Given the description of an element on the screen output the (x, y) to click on. 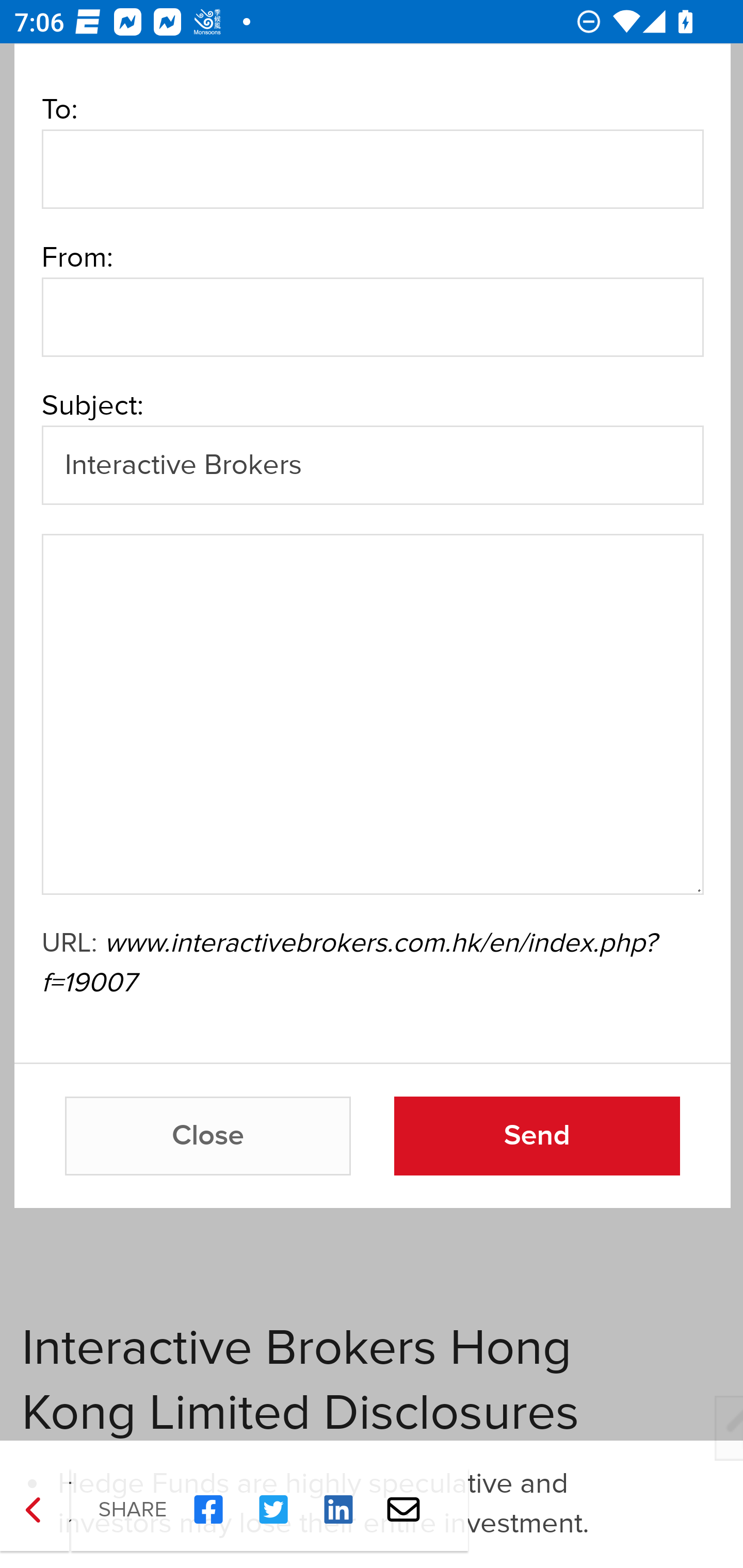
Interactive Brokers (371, 463)
Close (208, 1136)
Send (536, 1136)
Share on Facebook  (208, 1509)
Share on Twitter  (272, 1509)
Share on Linkedin  (338, 1509)
Share by Email  (403, 1509)
